Given the description of an element on the screen output the (x, y) to click on. 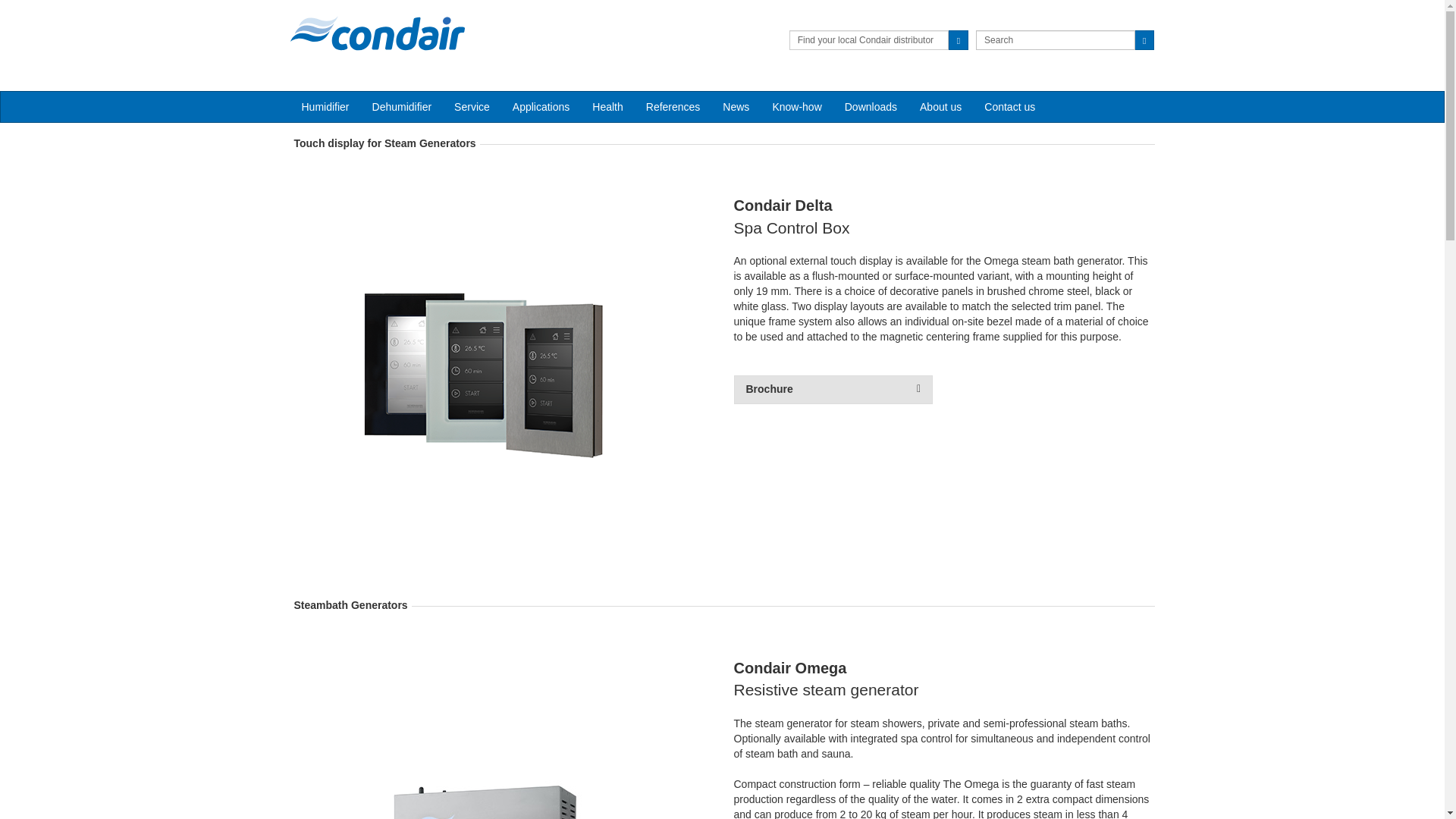
Condair Omega (472, 742)
Dehumidifier (402, 106)
Service (471, 106)
Condair (376, 32)
Humidifier (324, 106)
Applications (540, 106)
